Given the description of an element on the screen output the (x, y) to click on. 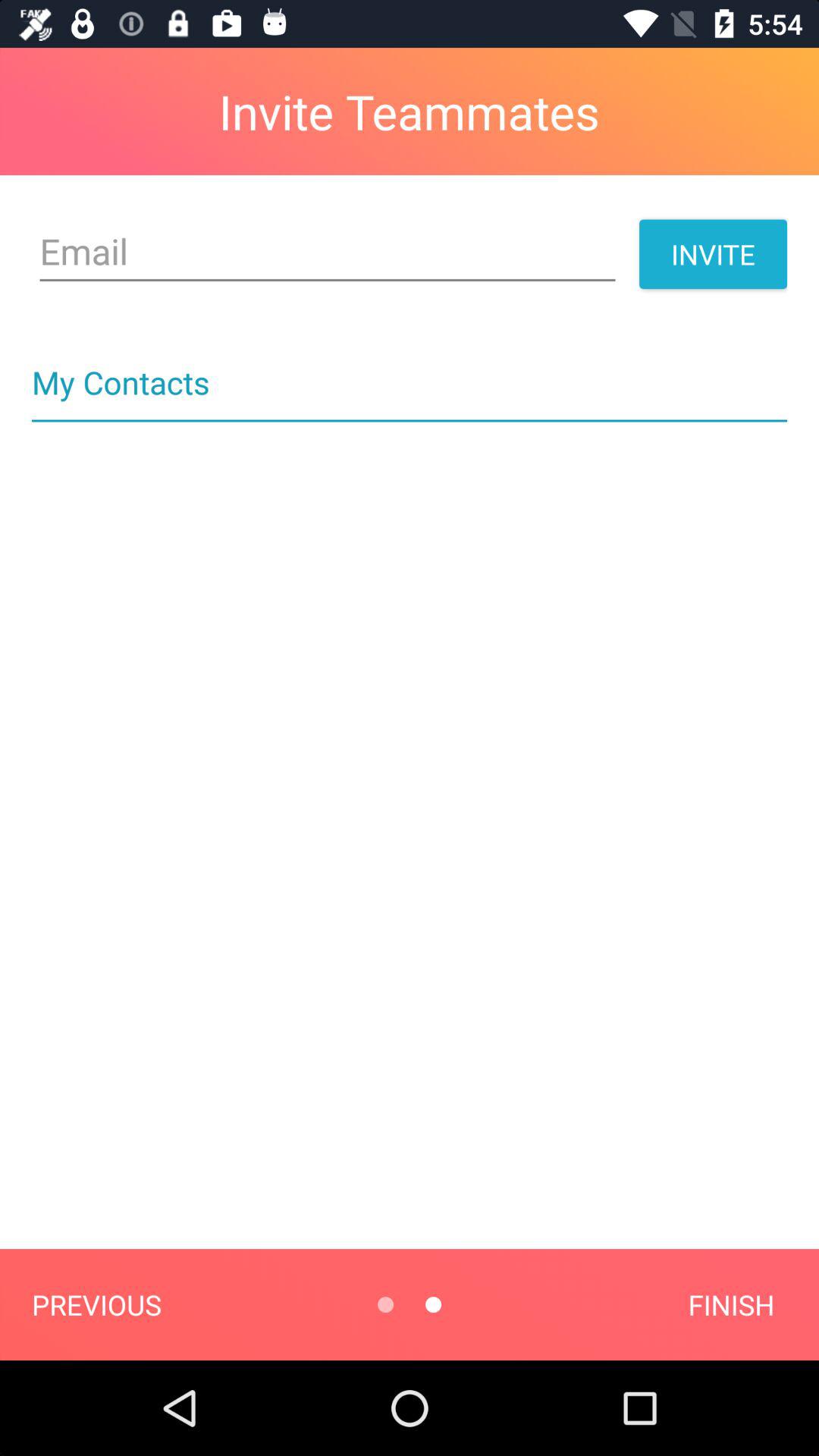
turn off item below invite teammates item (327, 251)
